Given the description of an element on the screen output the (x, y) to click on. 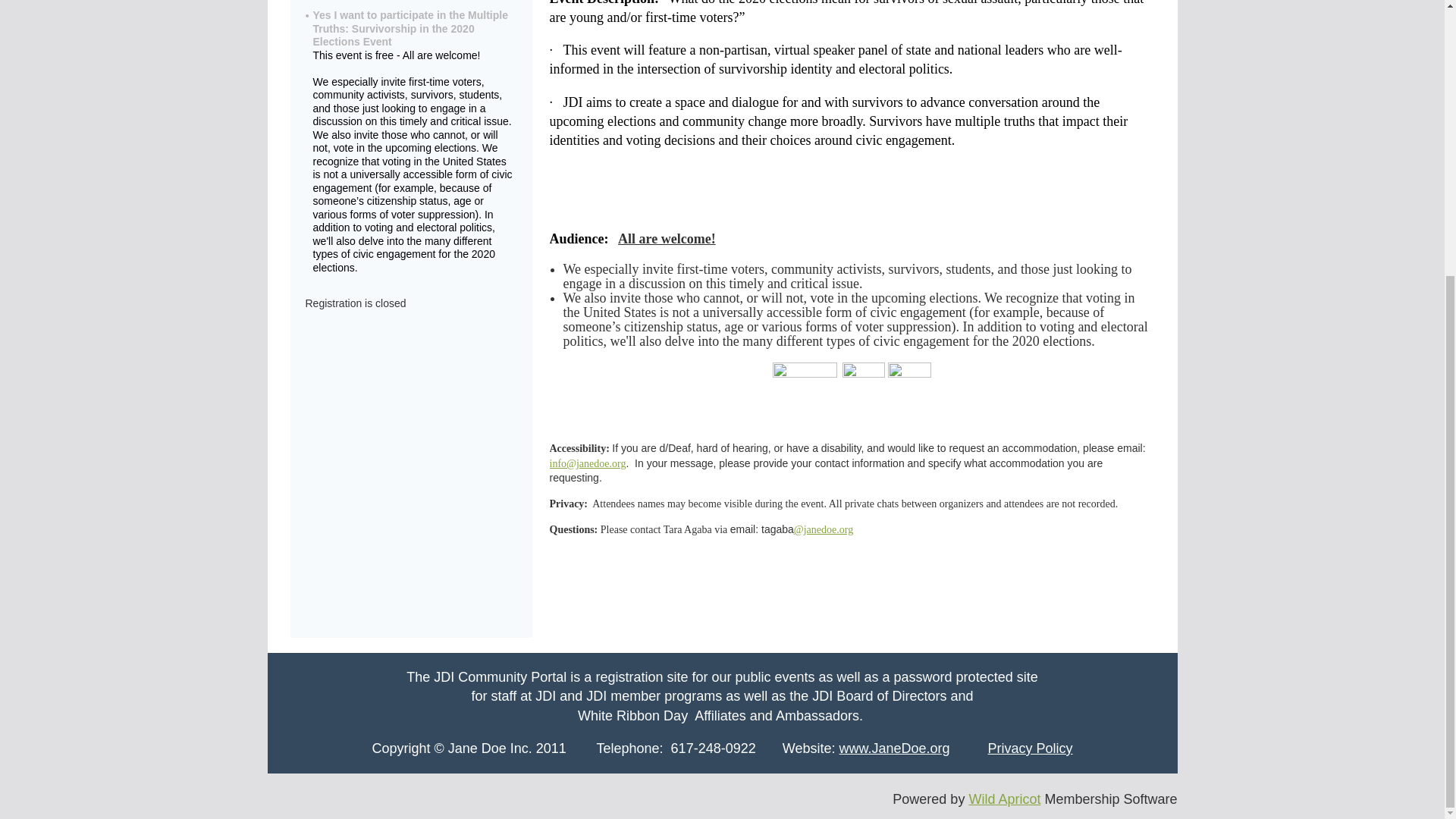
www.JaneDoe.org (893, 748)
Wild Apricot (1004, 798)
Privacy Policy (1030, 748)
